Given the description of an element on the screen output the (x, y) to click on. 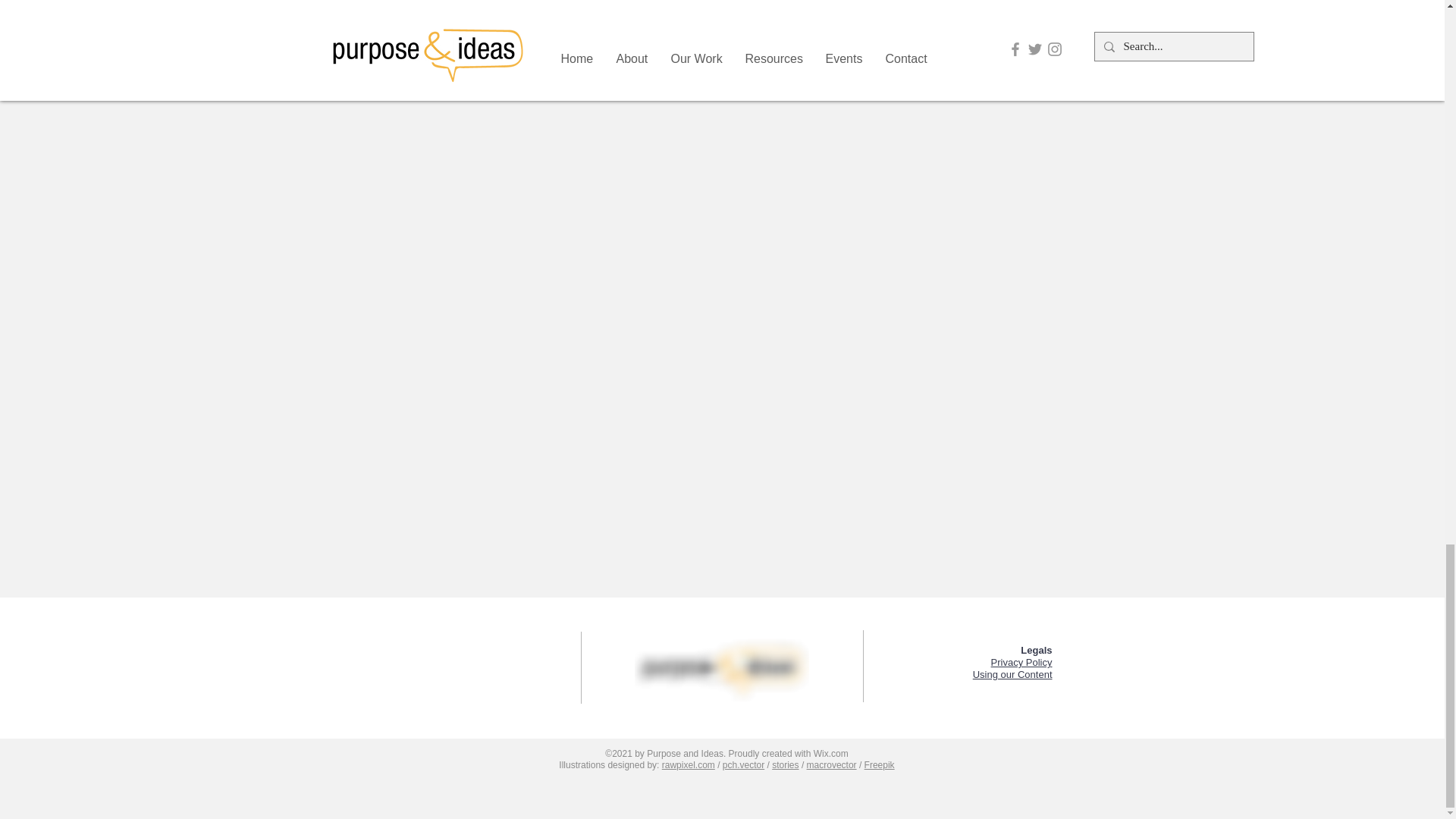
macrovector (831, 765)
rawpixel.com (688, 765)
pch.vector (743, 765)
Using our Content (1012, 674)
Freepik (879, 765)
Privacy Policy (1021, 662)
stories (784, 765)
